Given the description of an element on the screen output the (x, y) to click on. 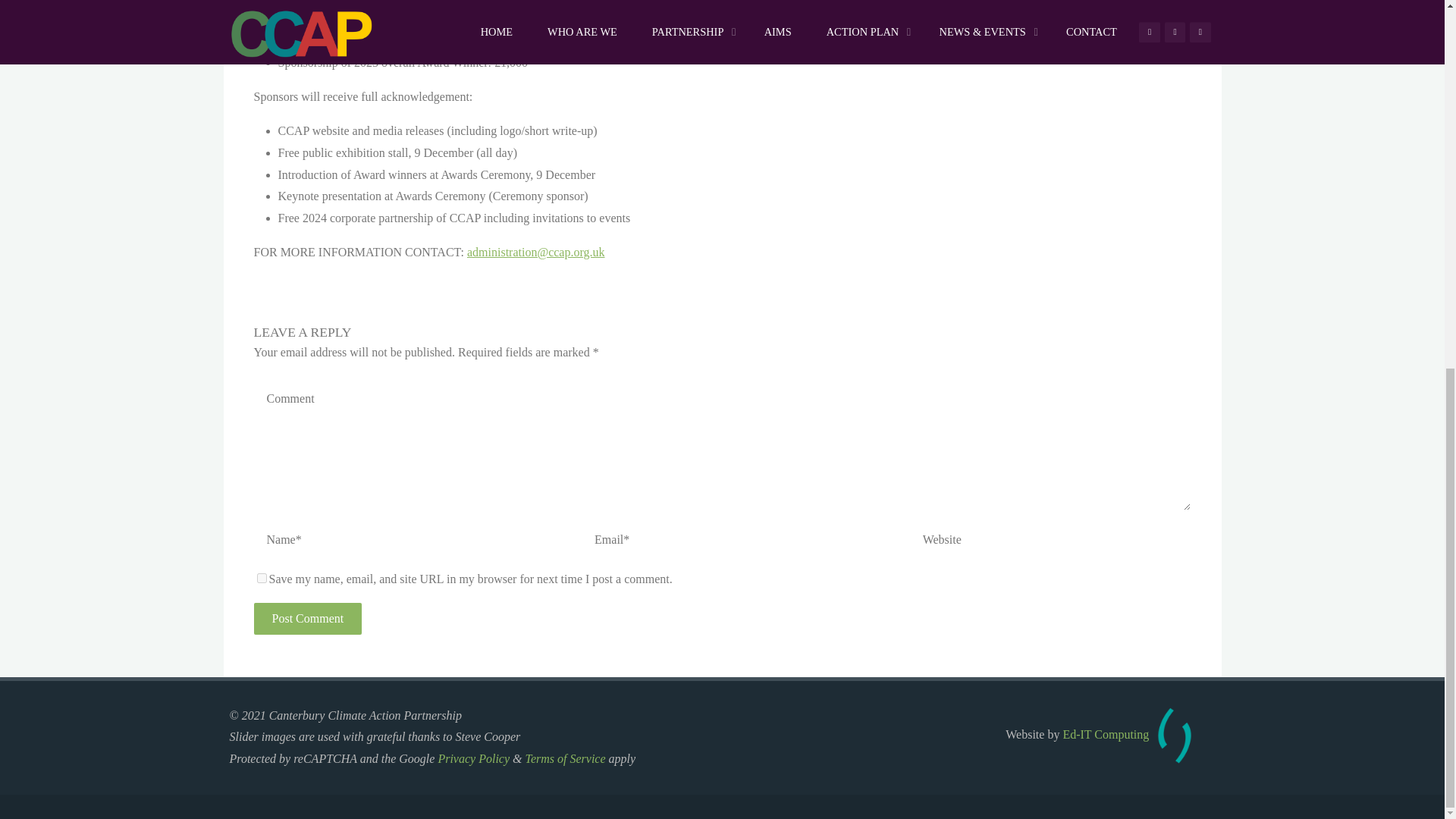
yes (261, 578)
Post Comment (307, 618)
